Given the description of an element on the screen output the (x, y) to click on. 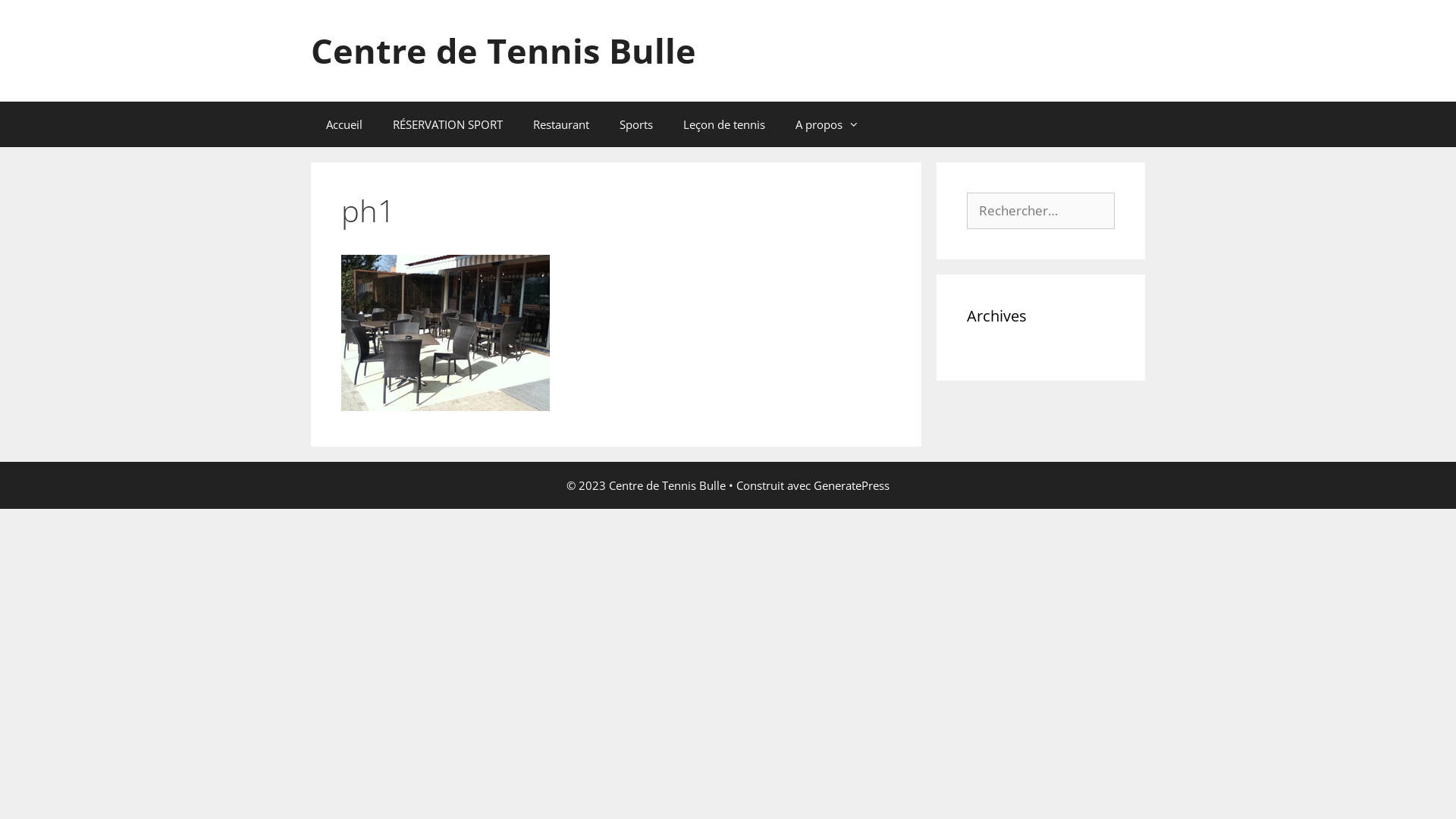
Sports Element type: text (636, 124)
Rechercher Element type: text (50, 18)
Accueil Element type: text (343, 124)
A propos Element type: text (827, 124)
GeneratePress Element type: text (851, 484)
Centre de Tennis Bulle Element type: text (503, 50)
Restaurant Element type: text (560, 124)
